Given the description of an element on the screen output the (x, y) to click on. 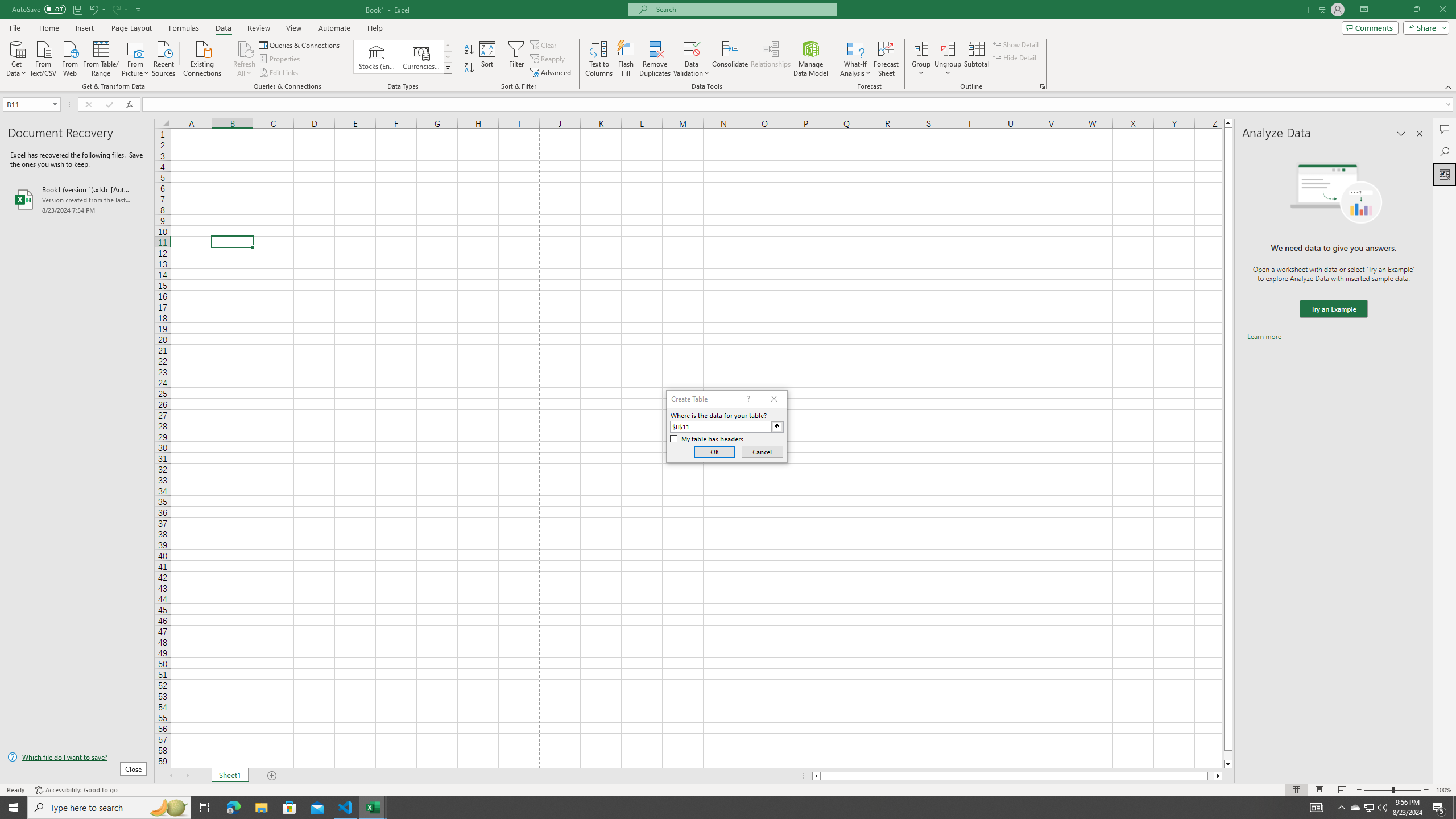
Page down (1228, 755)
Line down (1228, 764)
Class: NetUIScrollBar (1016, 775)
Collapse the Ribbon (1448, 86)
Sort... (487, 58)
Existing Connections (202, 57)
More Options (947, 68)
Restore Down (1416, 9)
Class: NetUIImage (447, 68)
Column left (815, 775)
Close pane (1419, 133)
Group... (921, 58)
Refresh All (244, 48)
